Given the description of an element on the screen output the (x, y) to click on. 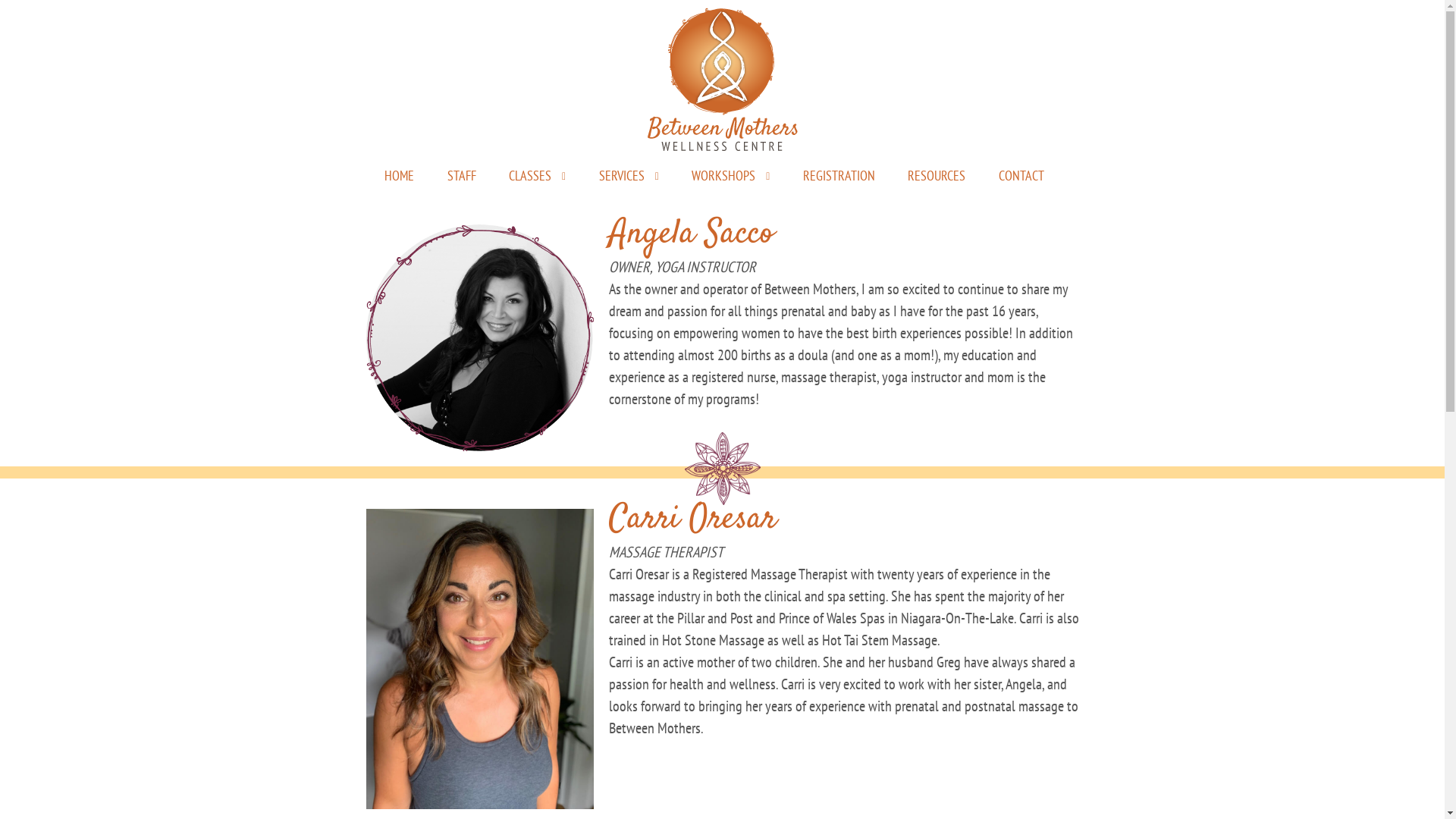
CONTACT Element type: text (1021, 175)
WORKSHOPS Element type: text (730, 175)
RESOURCES Element type: text (937, 175)
REGISTRATION Element type: text (838, 175)
SERVICES Element type: text (628, 175)
CLASSES Element type: text (536, 175)
Between Mothers Element type: hover (721, 75)
HOME Element type: text (399, 175)
STAFF Element type: text (461, 175)
